Given the description of an element on the screen output the (x, y) to click on. 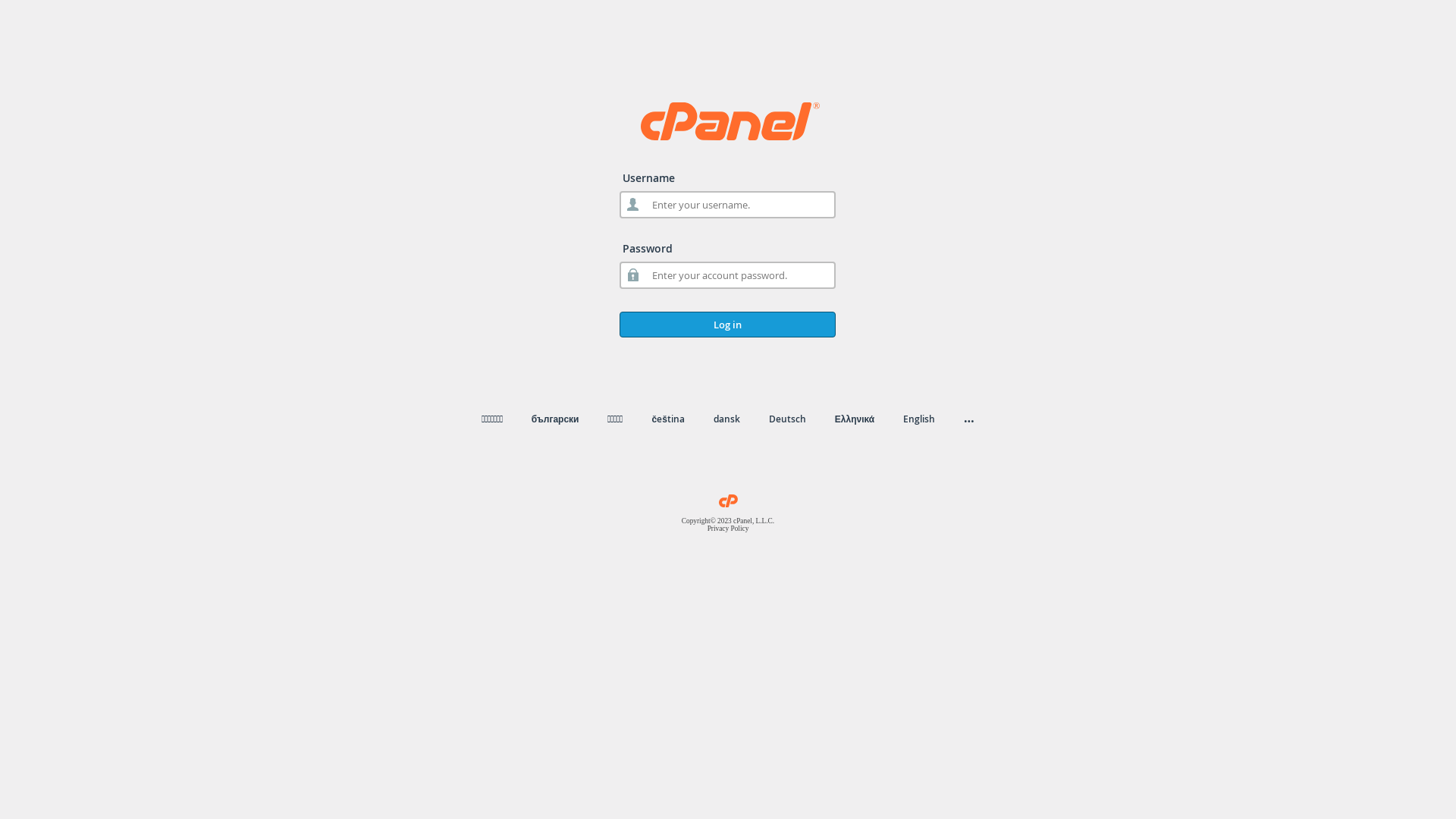
Deutsch Element type: text (787, 418)
Privacy Policy Element type: text (728, 528)
dansk Element type: text (726, 418)
English Element type: text (919, 418)
Log in Element type: text (727, 324)
